Given the description of an element on the screen output the (x, y) to click on. 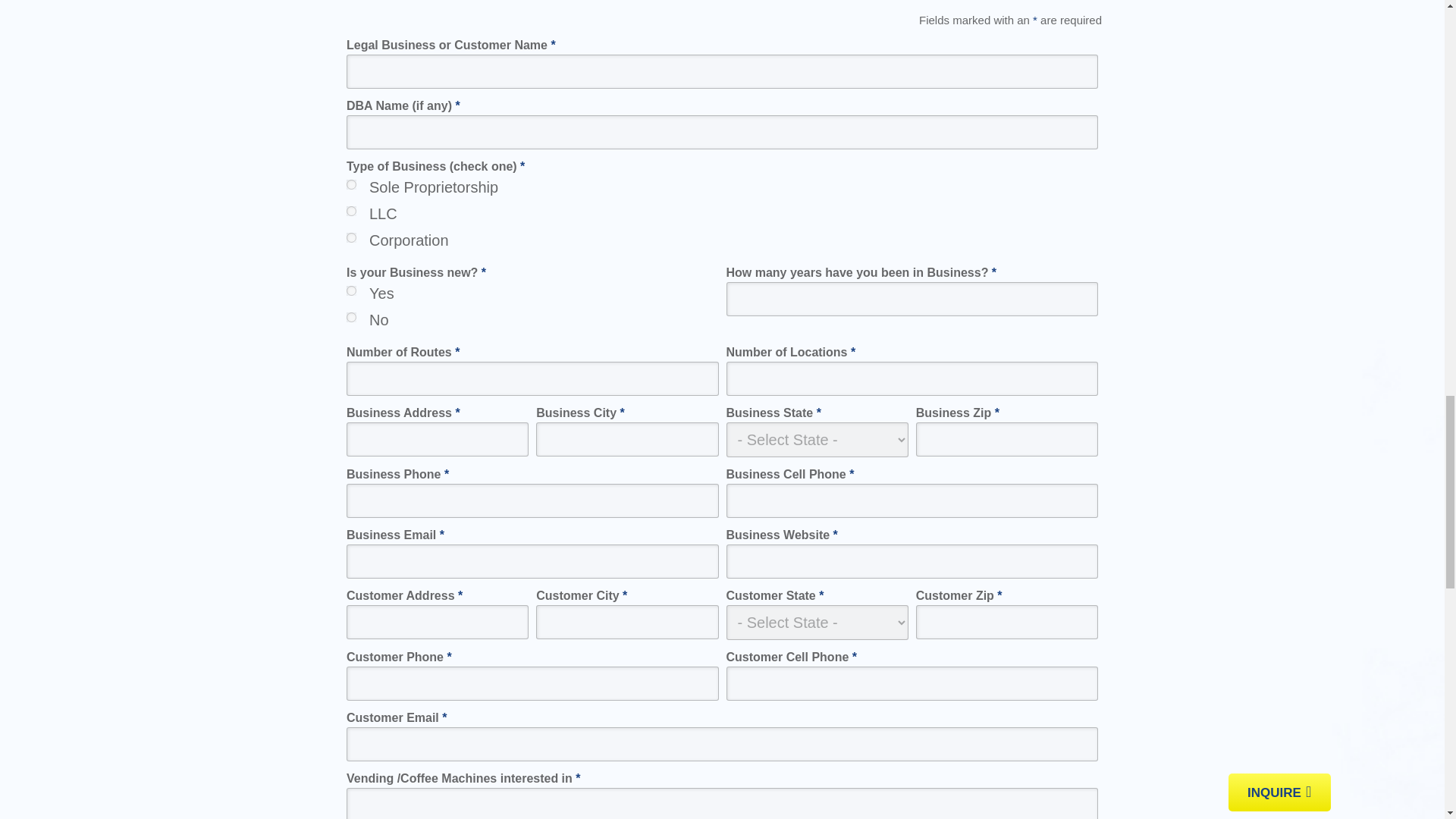
sole-proprietorship (351, 184)
no (351, 317)
yes (351, 290)
corporation (351, 237)
llc (351, 211)
